Given the description of an element on the screen output the (x, y) to click on. 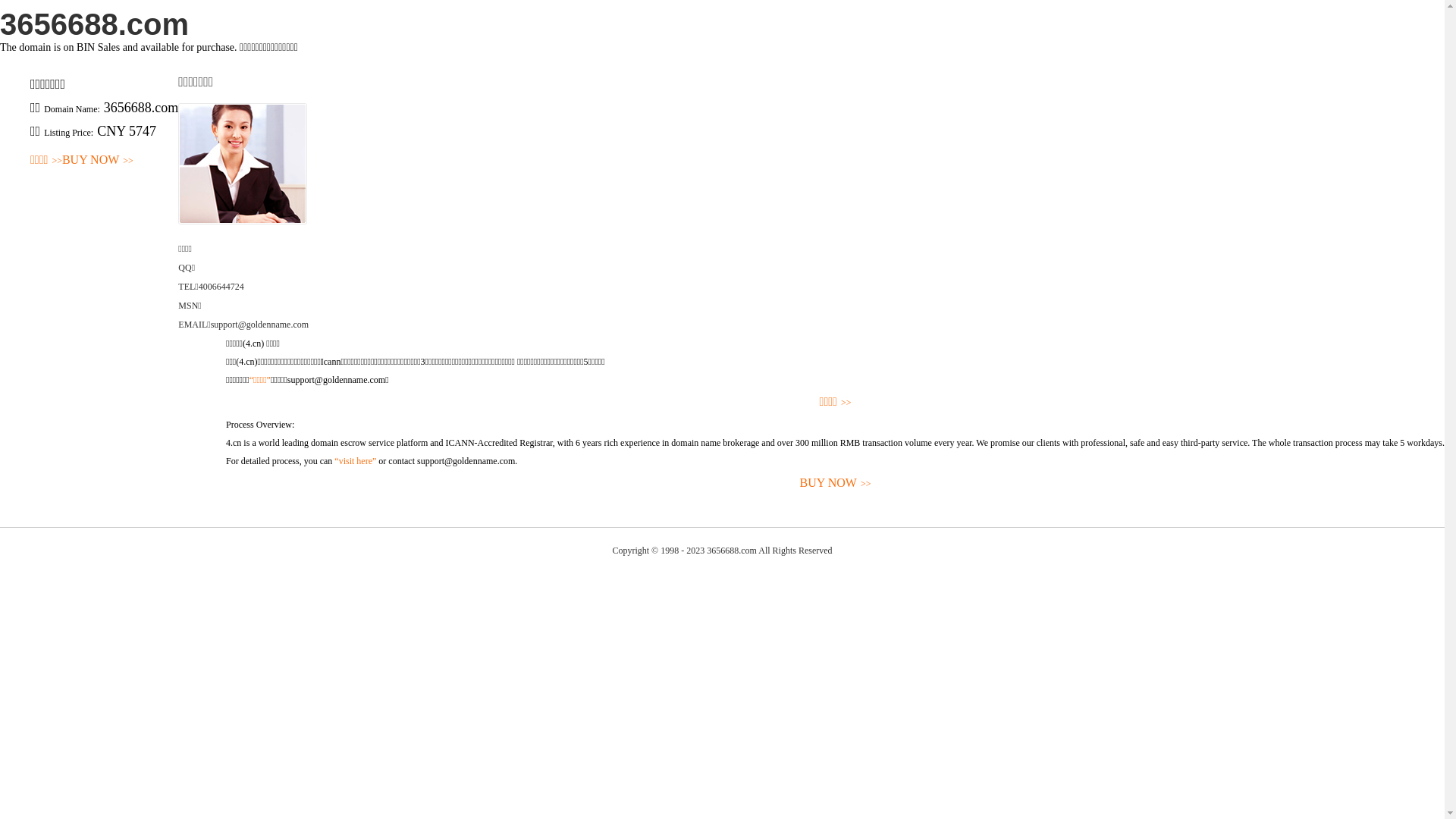
BUY NOW>> Element type: text (97, 160)
BUY NOW>> Element type: text (834, 483)
